Given the description of an element on the screen output the (x, y) to click on. 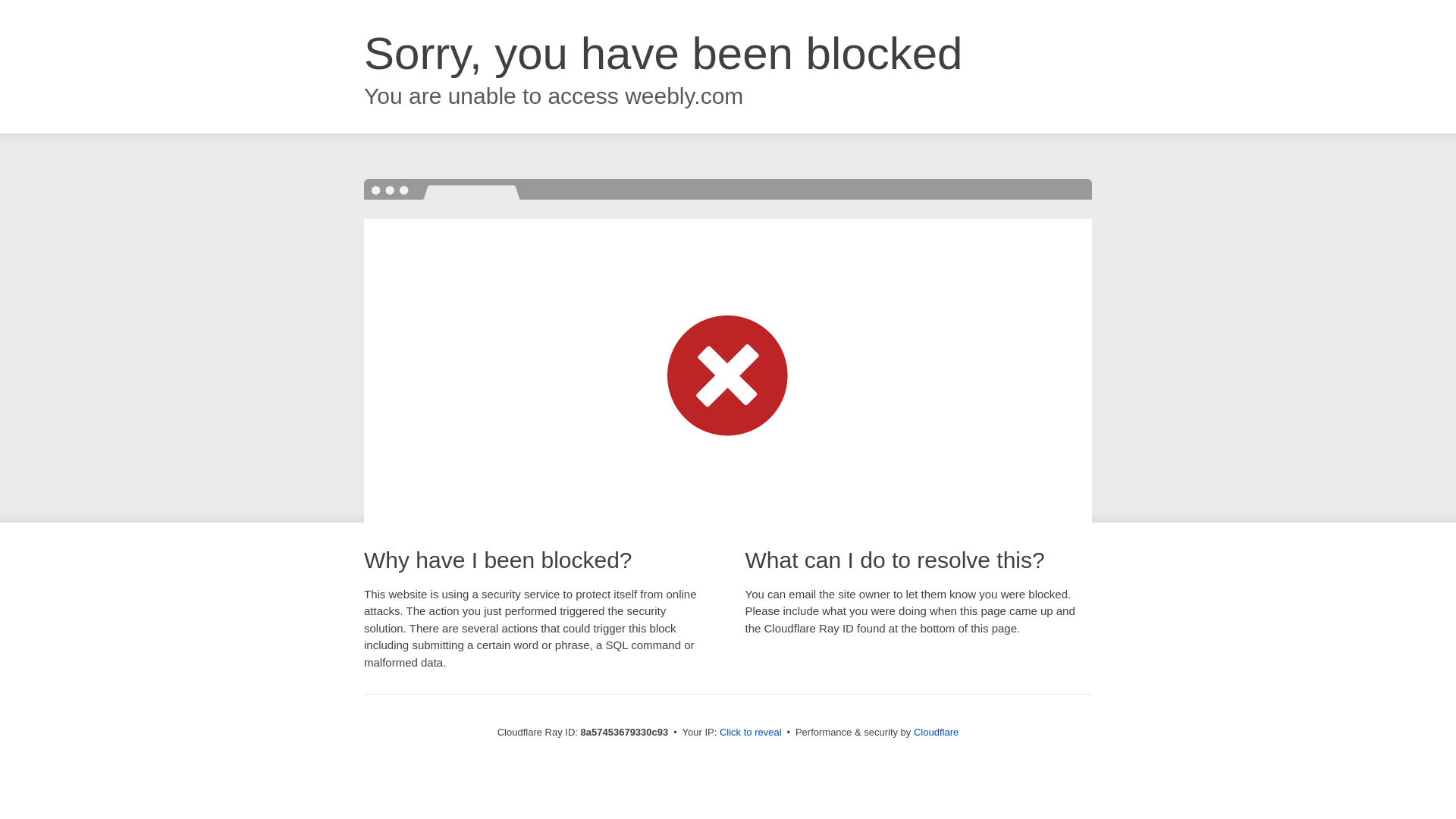
Cloudflare (936, 731)
Click to reveal (750, 732)
